Given the description of an element on the screen output the (x, y) to click on. 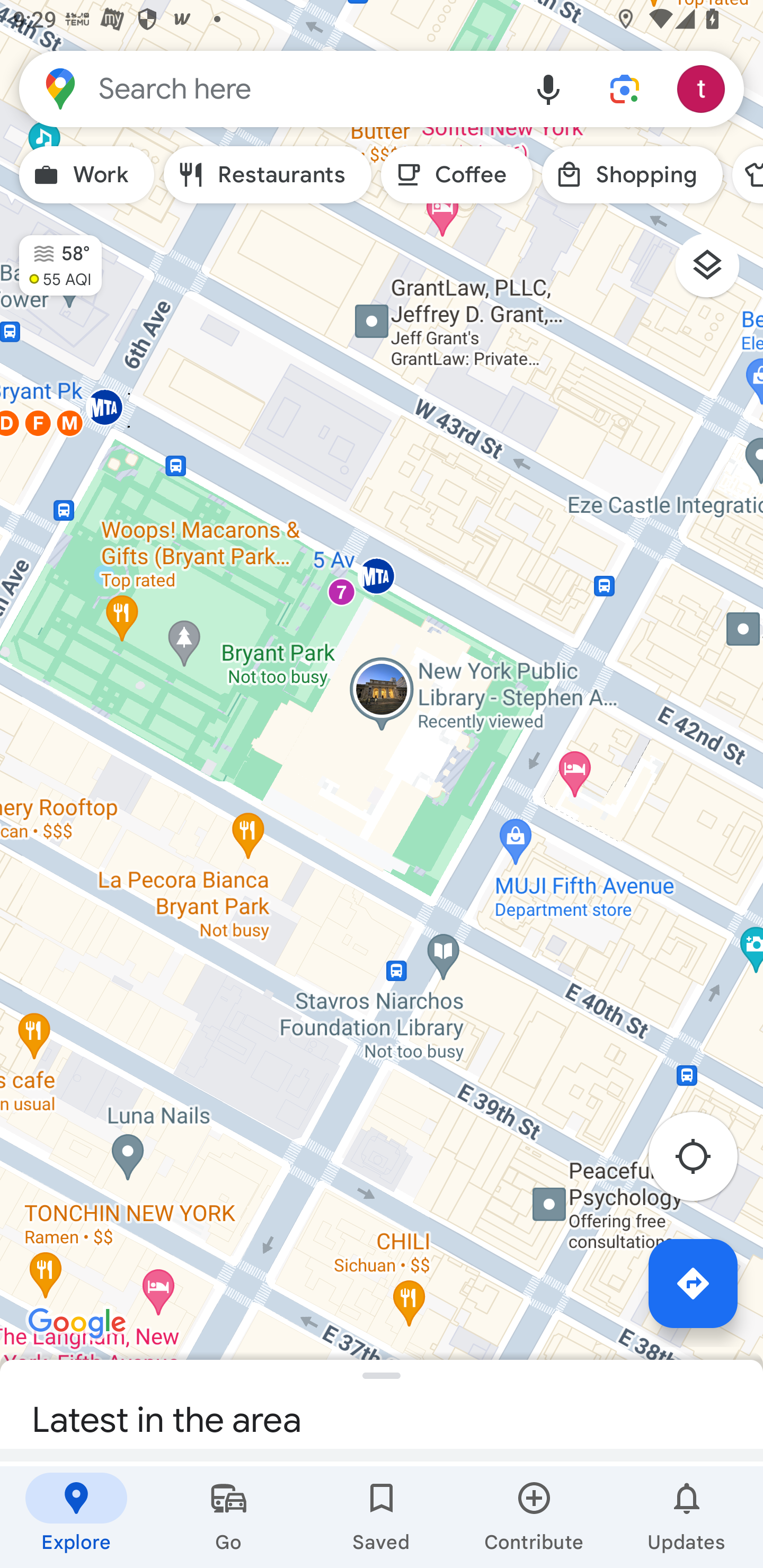
Search here (264, 88)
Voice search (548, 88)
Lens in Maps (624, 88)
Work (86, 174)
Restaurants Search for Restaurants (267, 174)
Coffee Search for Coffee (456, 174)
Shopping Search for Shopping (631, 174)
Mist, 58°, Moderate, 55 AQI 58° 55 AQI (50, 257)
Layers (716, 271)
Re-center map to your location (702, 1161)
Directions (692, 1283)
Go (228, 1517)
Saved (381, 1517)
Contribute (533, 1517)
Updates (686, 1517)
